Given the description of an element on the screen output the (x, y) to click on. 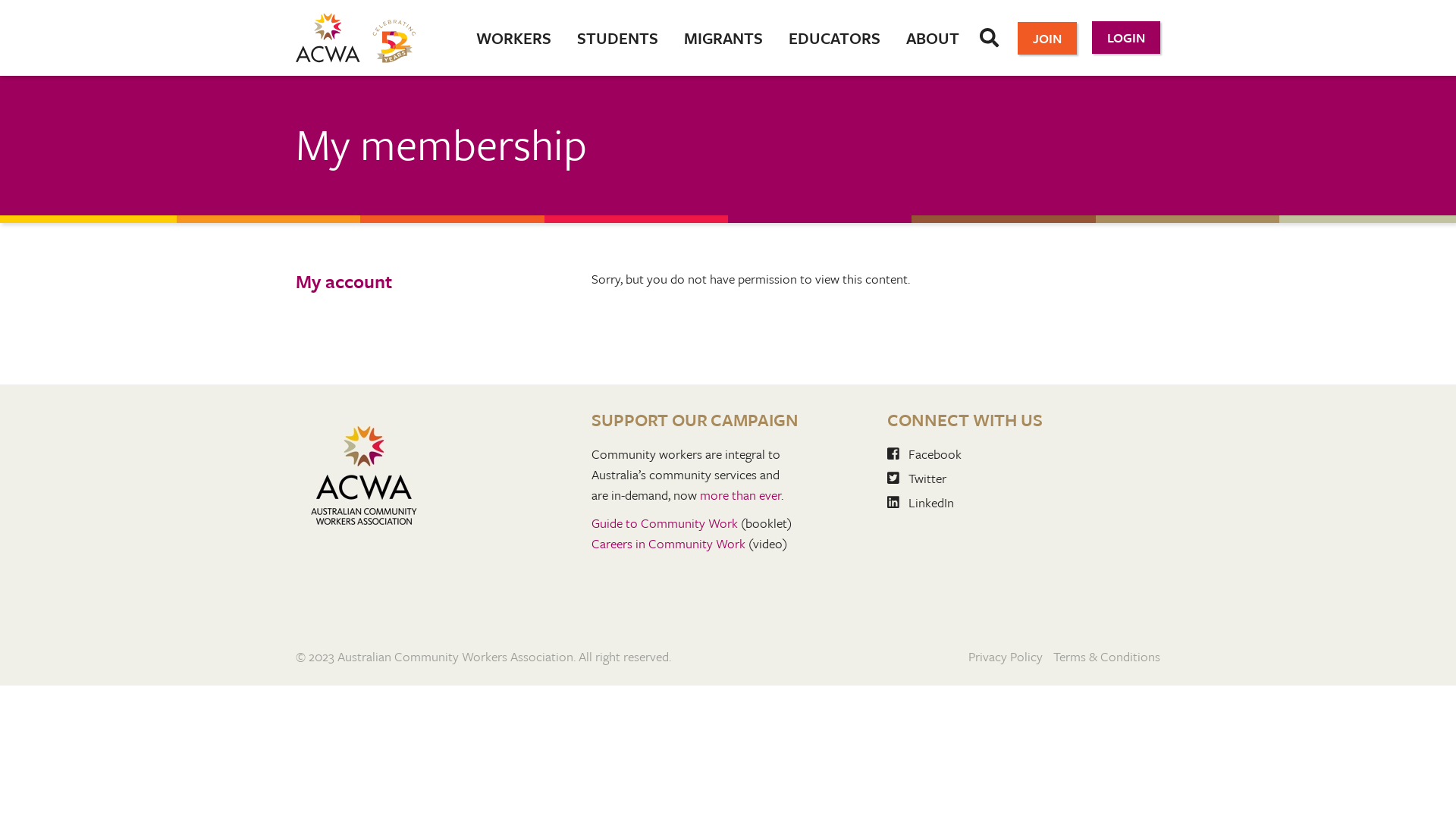
Privacy Policy Element type: text (1005, 655)
Terms & Conditions Element type: text (1106, 655)
  Facebook Element type: text (924, 453)
JOIN Element type: text (1046, 37)
LOGIN Element type: text (1126, 37)
ABOUT Element type: text (932, 37)
Guide to Community Work Element type: text (664, 522)
STUDENTS Element type: text (617, 37)
EDUCATORS Element type: text (834, 37)
Careers in Community Work Element type: text (668, 542)
WORKERS Element type: text (513, 37)
MIGRANTS Element type: text (723, 37)
  LinkedIn Element type: text (920, 501)
more than ever Element type: text (740, 494)
My account Element type: text (395, 280)
  Twitter Element type: text (916, 477)
